Given the description of an element on the screen output the (x, y) to click on. 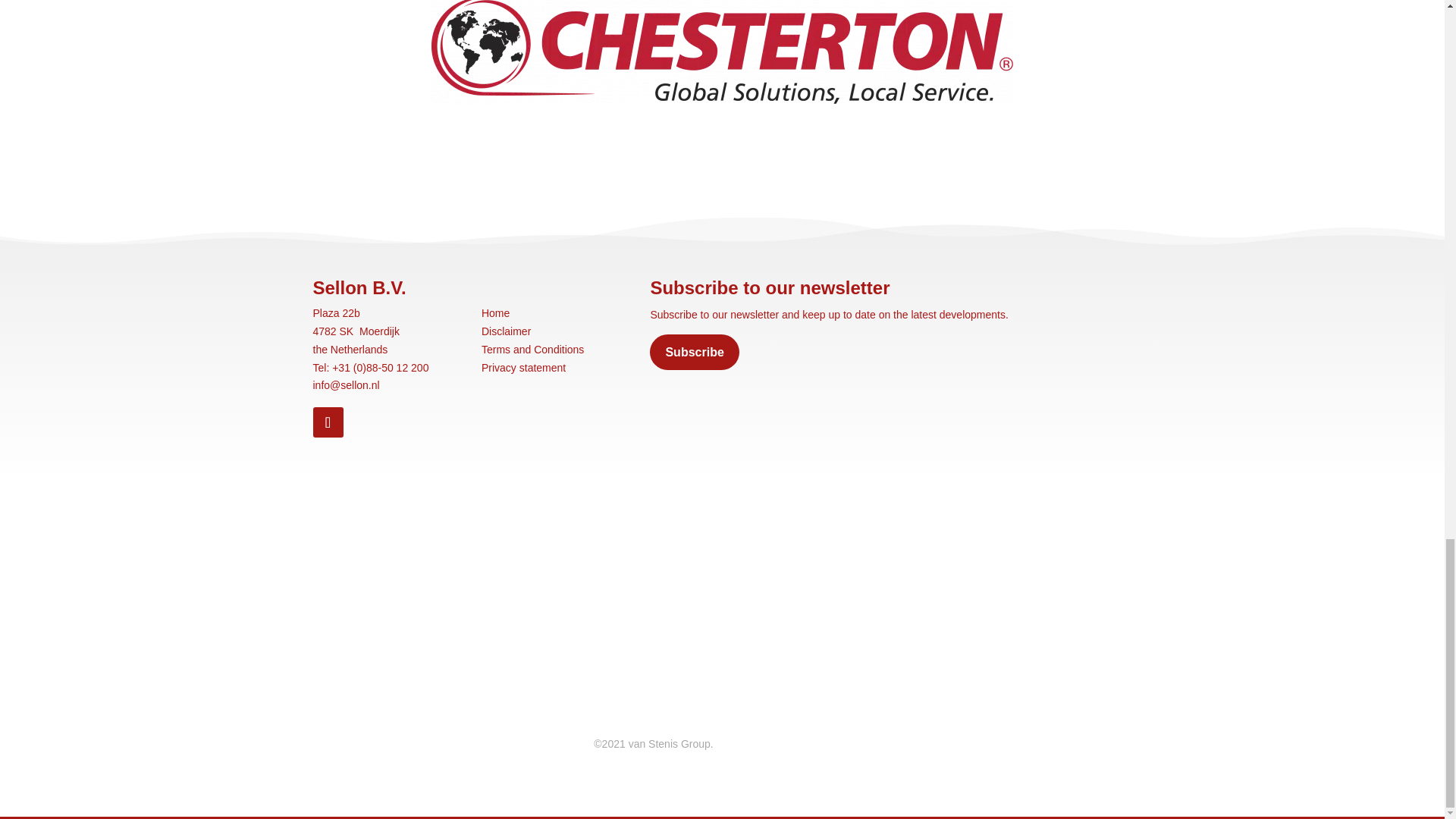
member of Van Stenis Group (403, 708)
Volg op LinkedIn (327, 422)
